Given the description of an element on the screen output the (x, y) to click on. 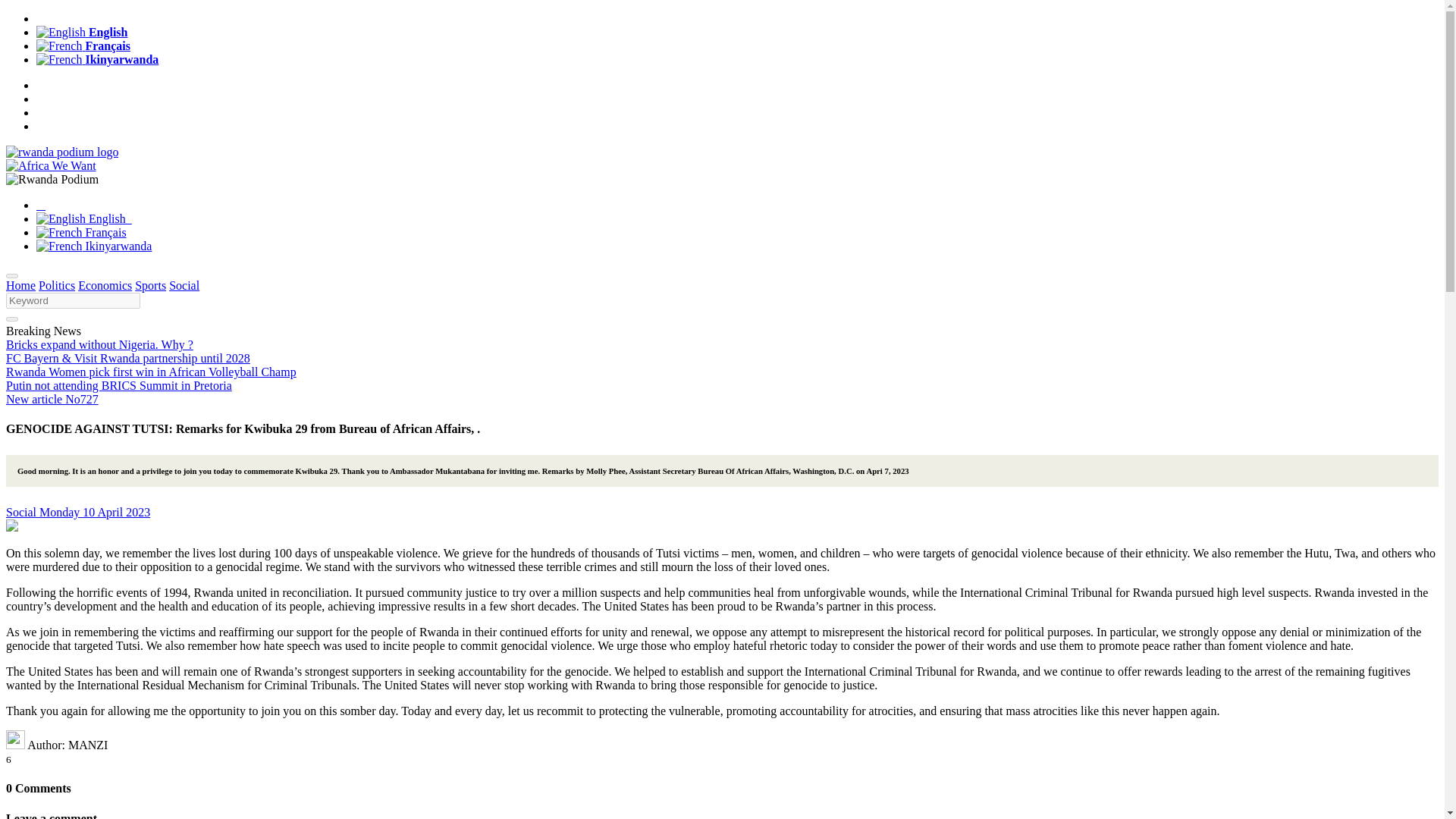
English (82, 31)
Rwanda Women pick first win in African Volleyball Champ (151, 371)
Putin not attending BRICS Summit in Pretoria (118, 385)
 Ikinyarwanda (93, 245)
Politics (57, 285)
Social (183, 285)
 English   (84, 218)
New article No727 (52, 399)
Sports (150, 285)
Monday 10 April 2023 (94, 512)
Social (22, 512)
Economics (105, 285)
Bricks expand without Nigeria. Why ? (99, 344)
Ikinyarwanda (97, 59)
